Given the description of an element on the screen output the (x, y) to click on. 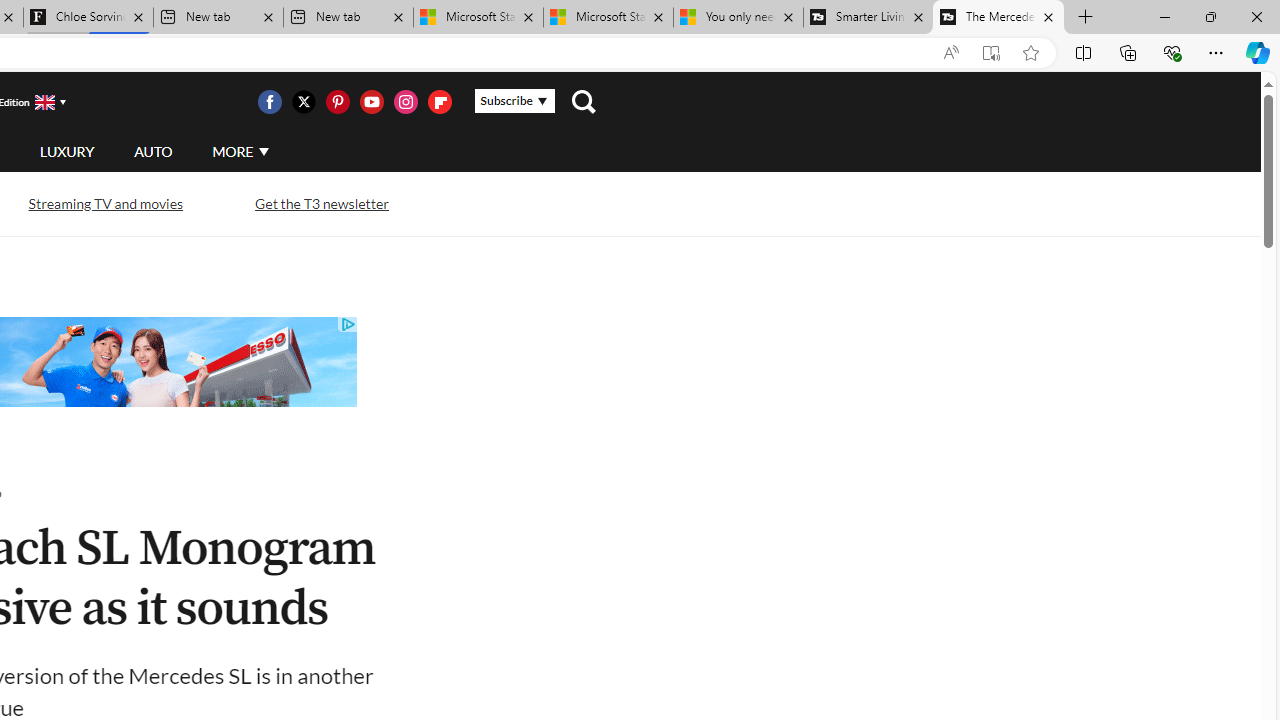
Class: navigation__search (583, 101)
Chloe Sorvino (88, 17)
Streaming TV and movies (105, 204)
flag of UK (44, 102)
Get the T3 newsletter (322, 202)
Visit us on Twitter (303, 101)
Subscribe (514, 101)
